Given the description of an element on the screen output the (x, y) to click on. 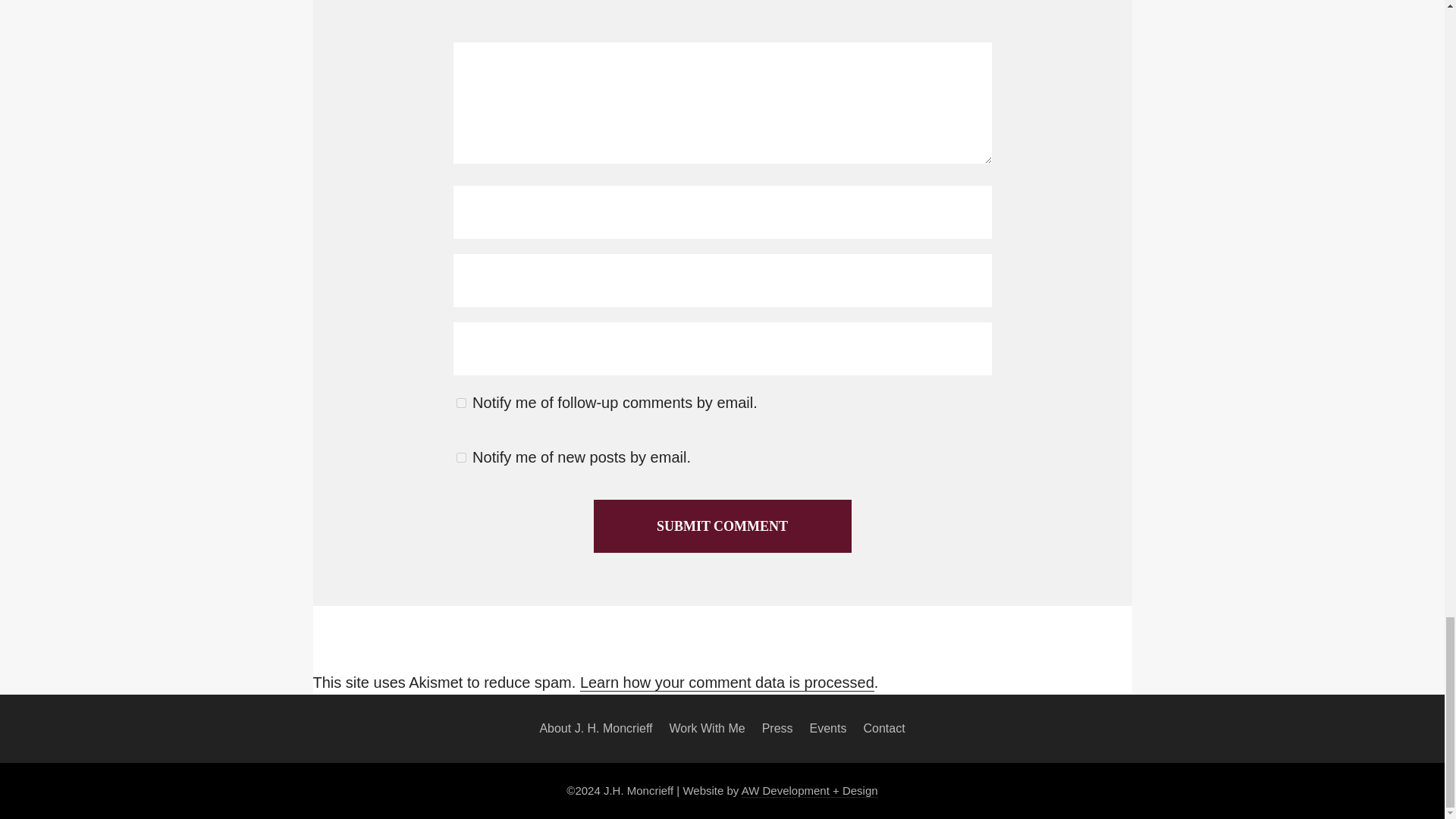
Submit Comment (721, 525)
subscribe (461, 402)
subscribe (461, 457)
